Given the description of an element on the screen output the (x, y) to click on. 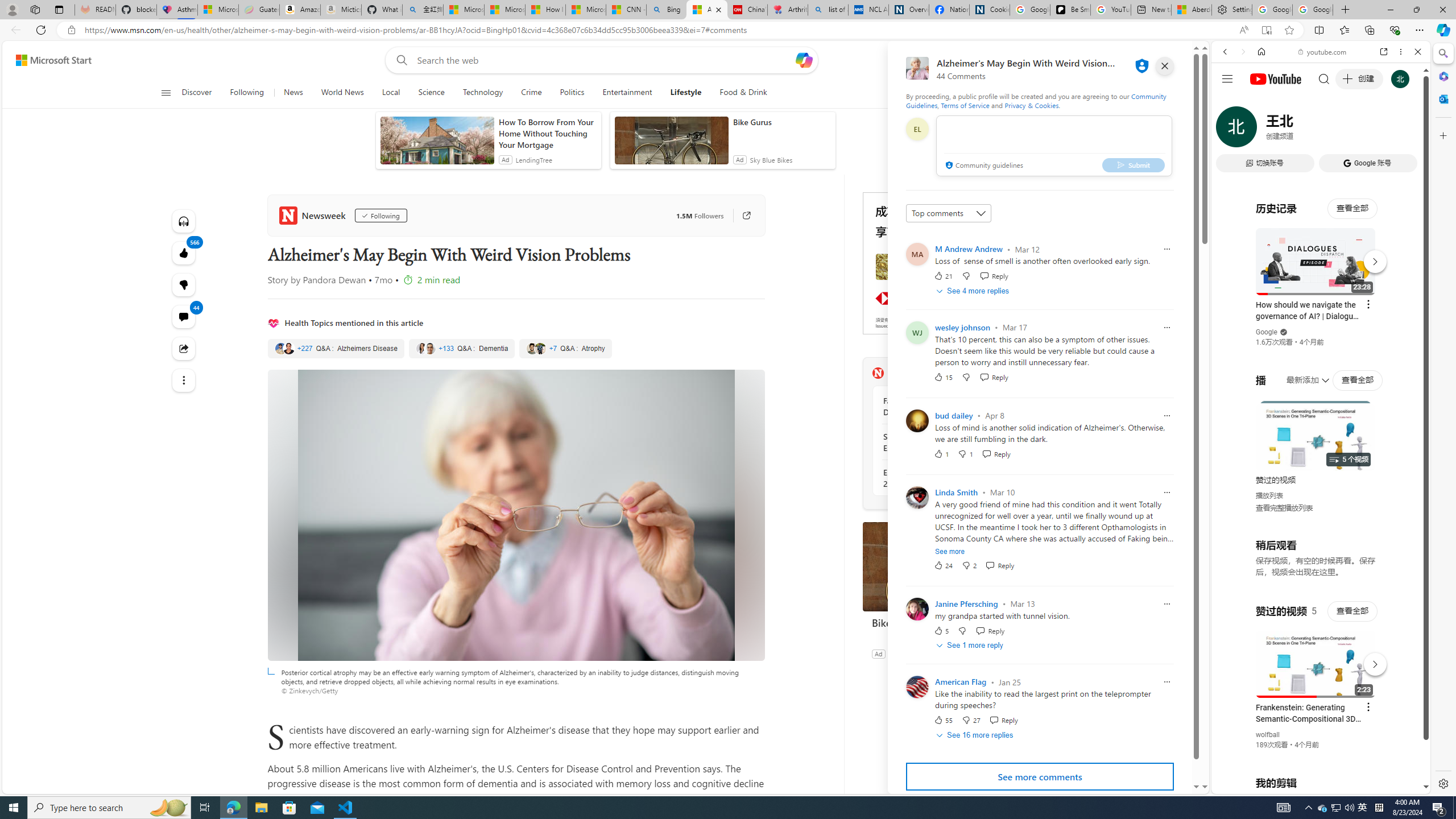
Open settings (1175, 60)
wesley johnson (962, 327)
Workspaces (34, 9)
AutomationID: canvas (947, 263)
Reply Reply Comment (1003, 720)
Following (248, 92)
